Given the description of an element on the screen output the (x, y) to click on. 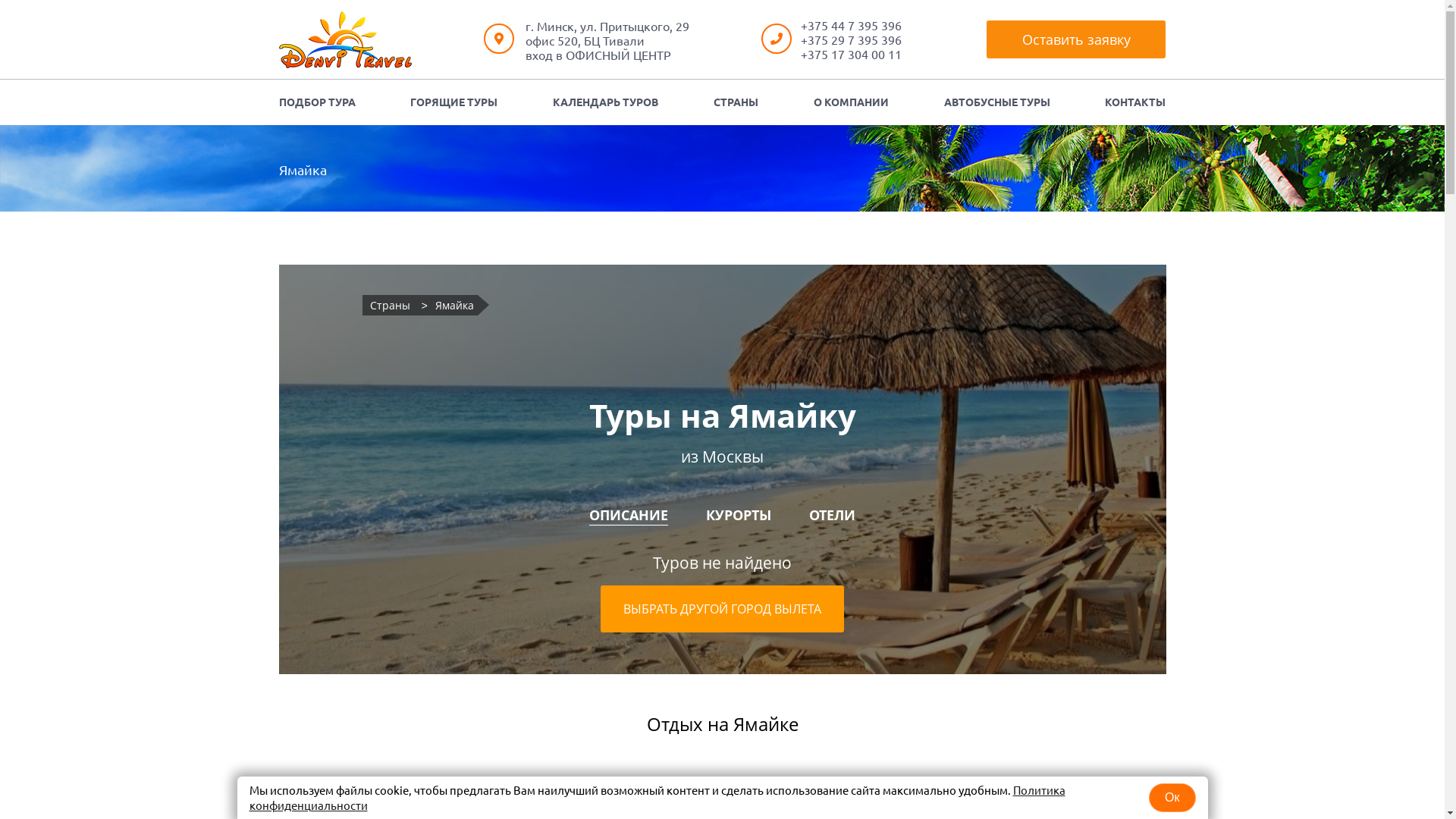
+375 17 304 00 11 Element type: text (850, 53)
+375 44 7 395 396 Element type: text (850, 24)
+375 29 7 395 396 Element type: text (850, 39)
